Given the description of an element on the screen output the (x, y) to click on. 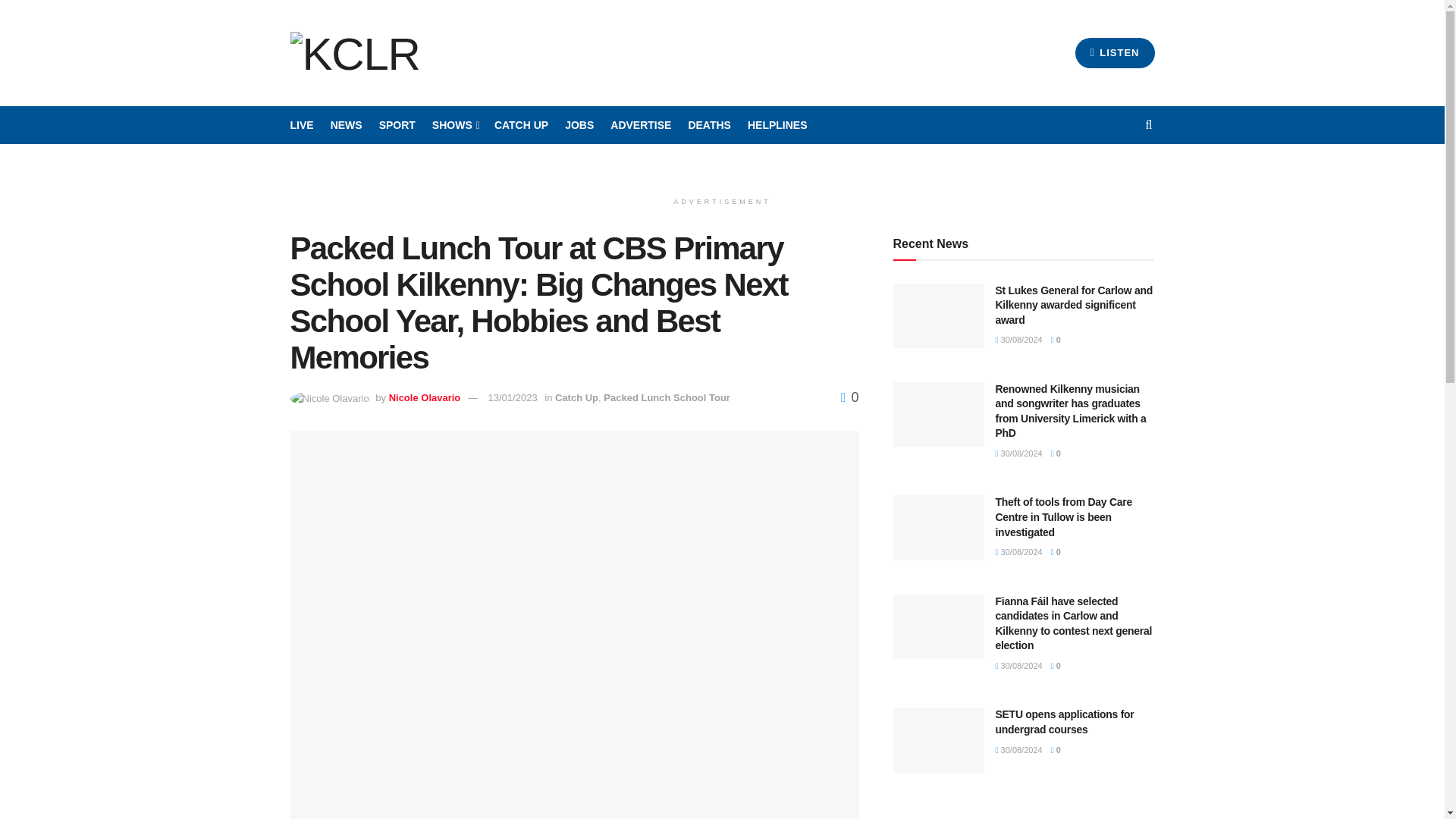
KCLR Sport on Scoreline.ie (396, 125)
LISTEN (1114, 52)
CATCH UP (521, 125)
Carlow and Kilkenny Death Notices (708, 125)
HELPLINES (778, 125)
SHOWS (454, 125)
ADVERTISE (640, 125)
DEATHS (708, 125)
Listen back to KCLR shows (521, 125)
SPORT (396, 125)
